Given the description of an element on the screen output the (x, y) to click on. 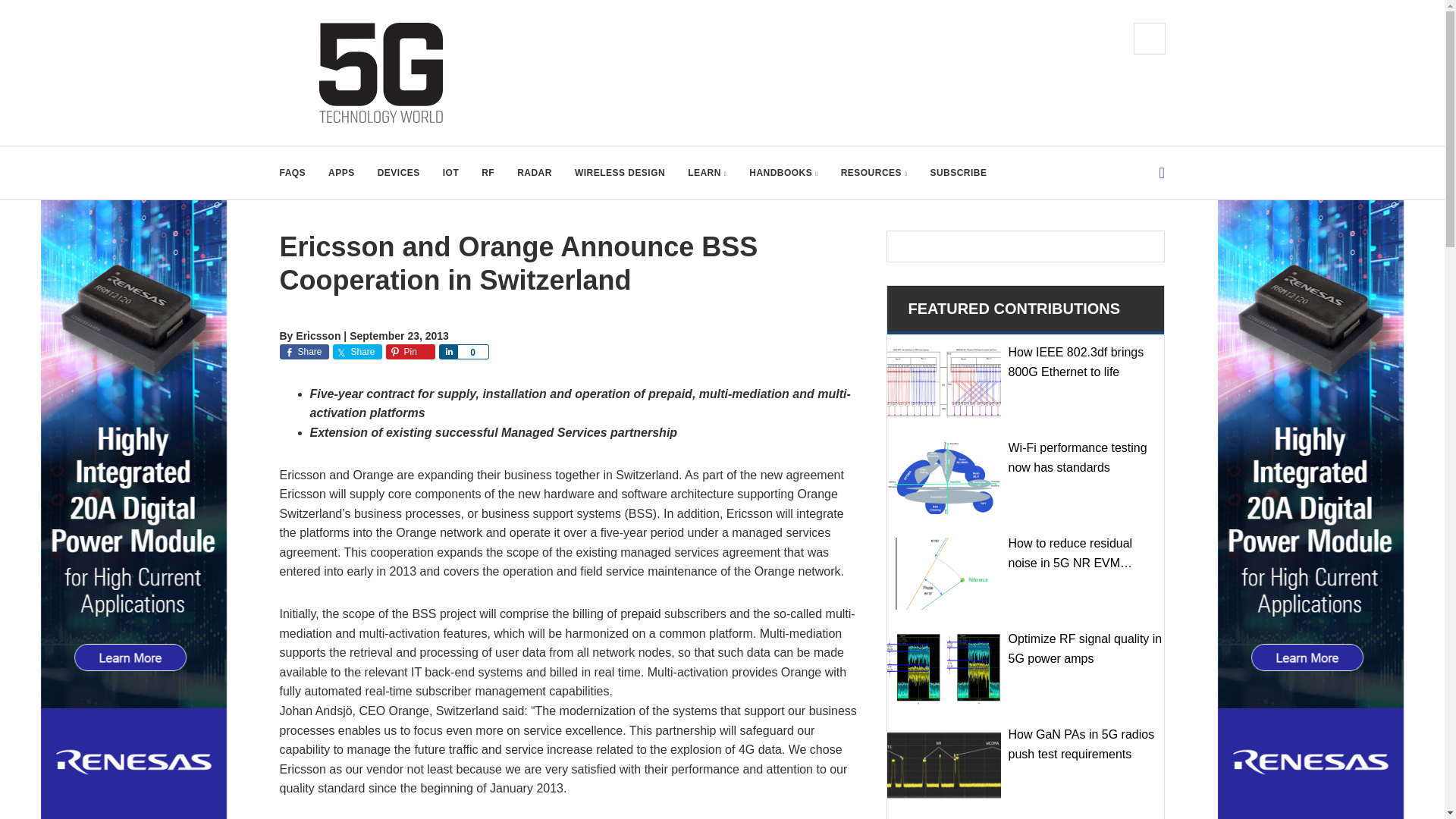
DEVICES (398, 172)
FAQS (292, 172)
Pin (409, 351)
How GaN PAs in 5G radios push test requirements (943, 764)
0 (472, 351)
LEARN (706, 172)
5G Technology World (380, 72)
HANDBOOKS (782, 172)
Ericsson (317, 336)
RADAR (533, 172)
Share (304, 351)
How to reduce residual noise in 5G NR EVM measurements (943, 573)
Share (447, 351)
Wi-Fi performance testing now has standards (943, 478)
SUBSCRIBE (958, 172)
